Given the description of an element on the screen output the (x, y) to click on. 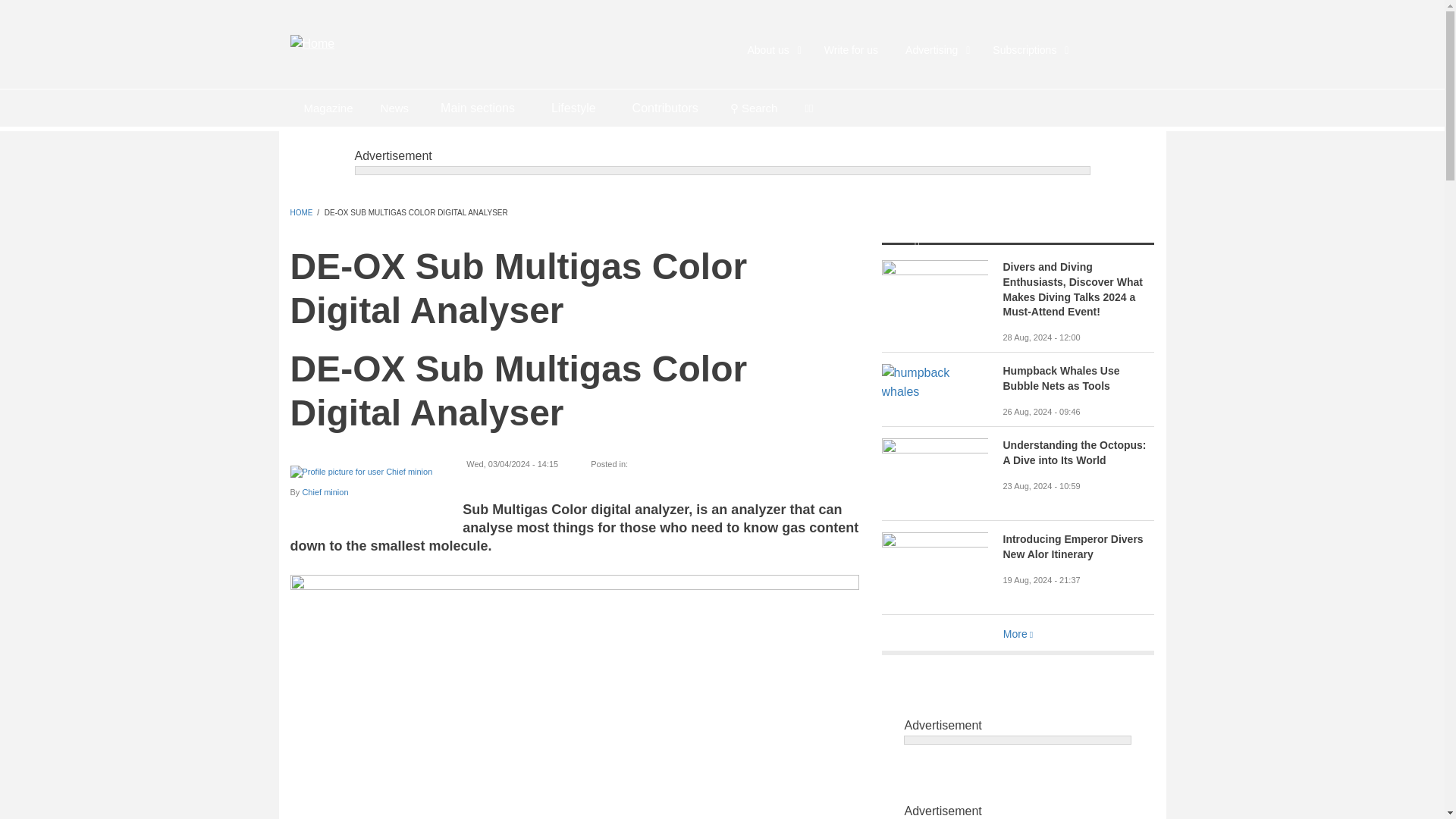
Write for us (850, 50)
Main sections (477, 108)
News (394, 107)
Advertising (934, 50)
About us (771, 50)
Latest posts (394, 107)
Home (311, 42)
Advertising and promotions (934, 50)
Magazine (327, 107)
